Given the description of an element on the screen output the (x, y) to click on. 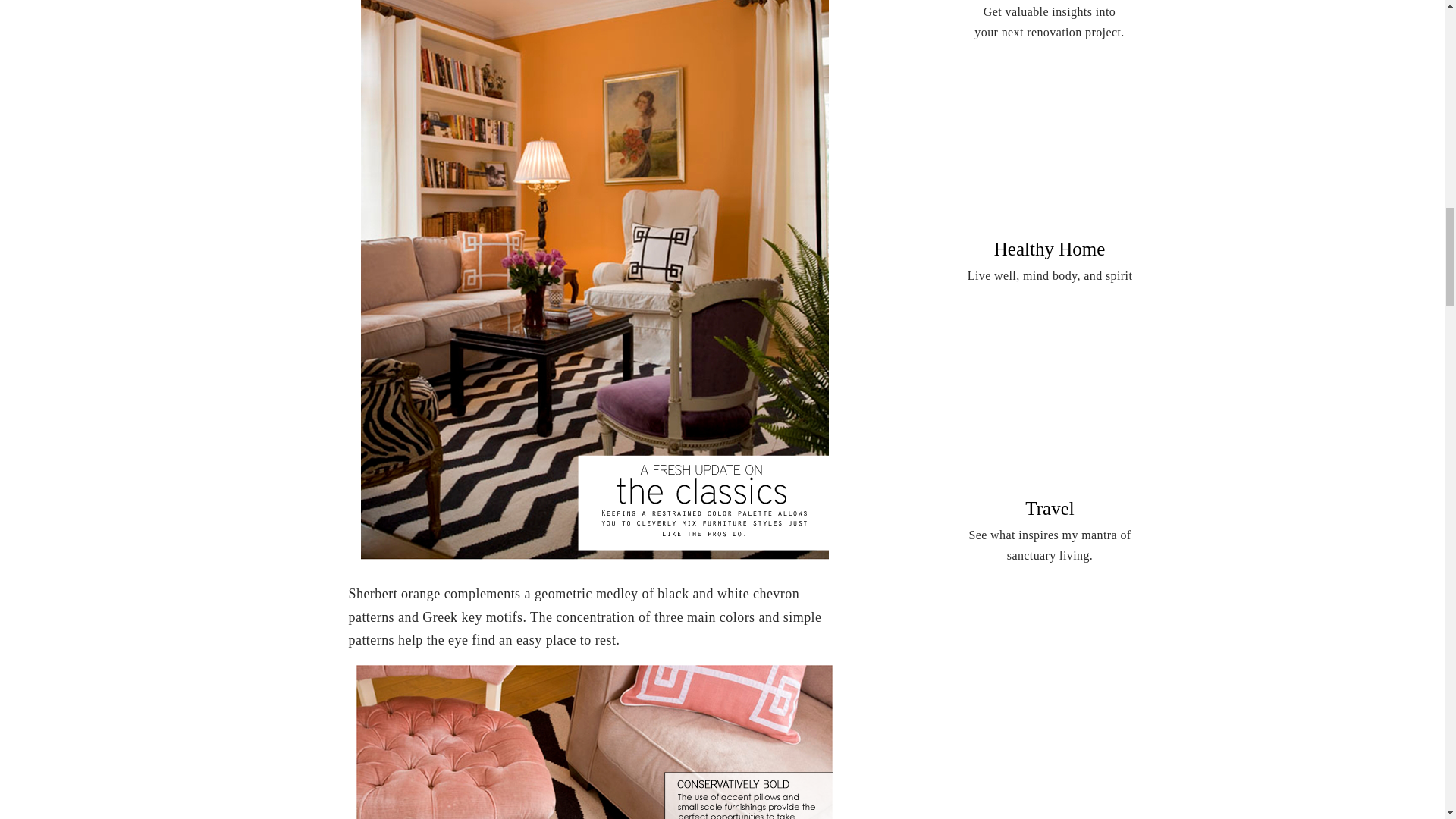
Marmalade-Interiors-family-room-closeup-BLB (593, 741)
